Given the description of an element on the screen output the (x, y) to click on. 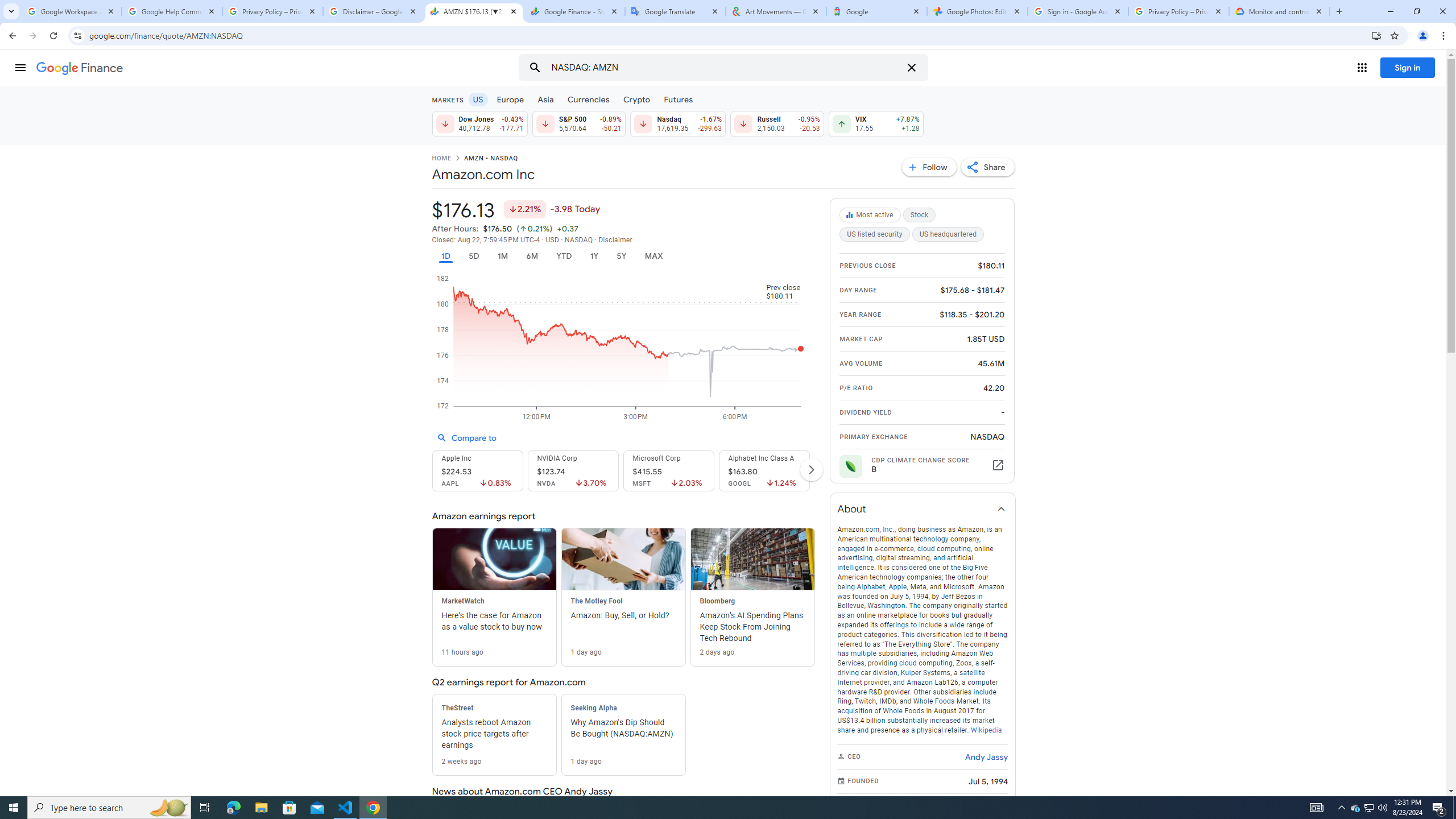
Export (59, 536)
Transform (59, 567)
Add a Place (288, 285)
Recover Unsaved Documents (530, 753)
Documents (492, 127)
